Given the description of an element on the screen output the (x, y) to click on. 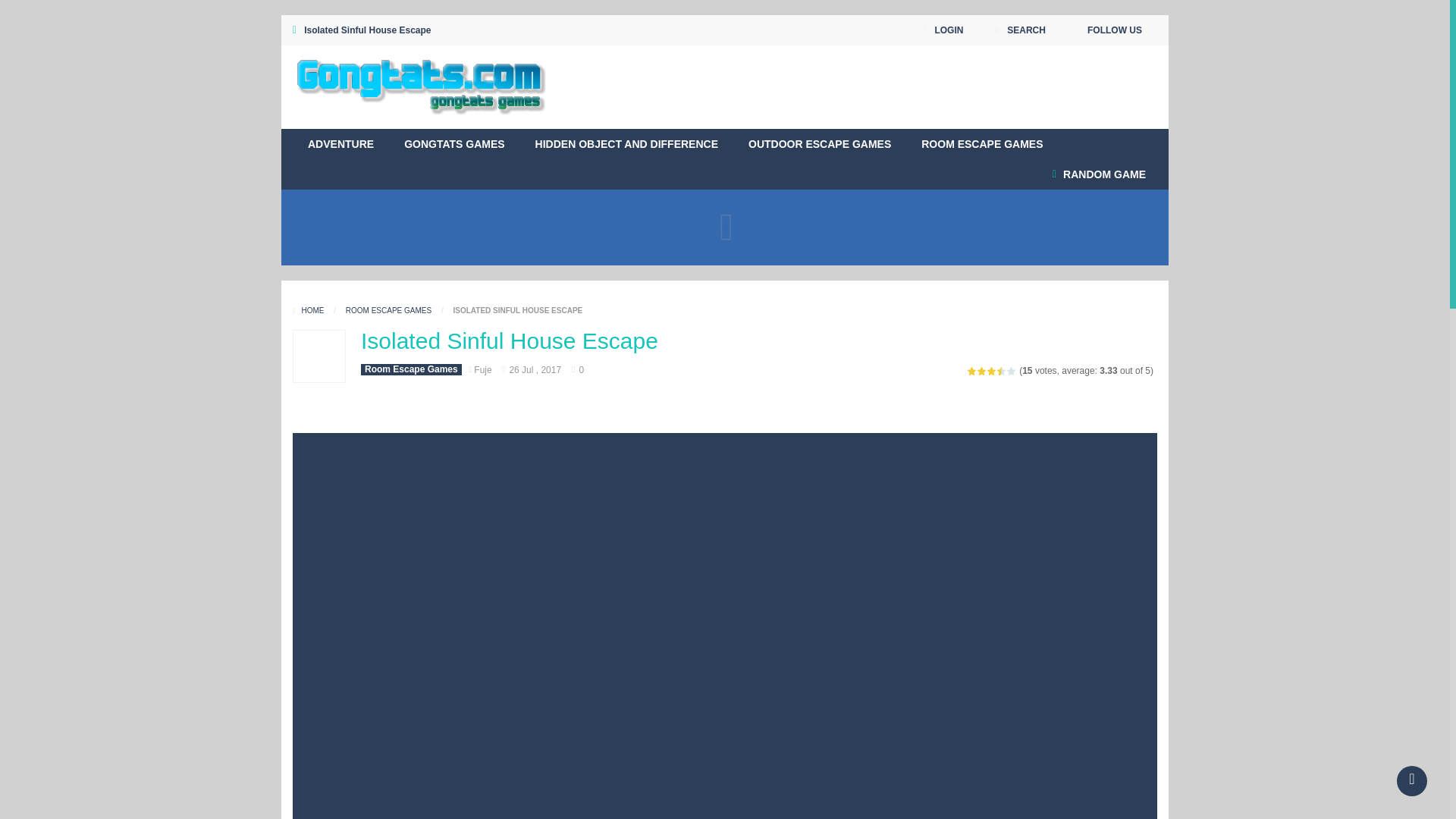
GONGTATS GAMES (453, 143)
SEARCH (1019, 30)
FOLLOW US (1108, 30)
LOGIN (942, 30)
HOME (309, 310)
ADVENTURE (340, 143)
Gongtats Games (421, 86)
ROOM ESCAPE GAMES (981, 143)
Fuje (481, 369)
RANDOM GAME (1099, 173)
